Given the description of an element on the screen output the (x, y) to click on. 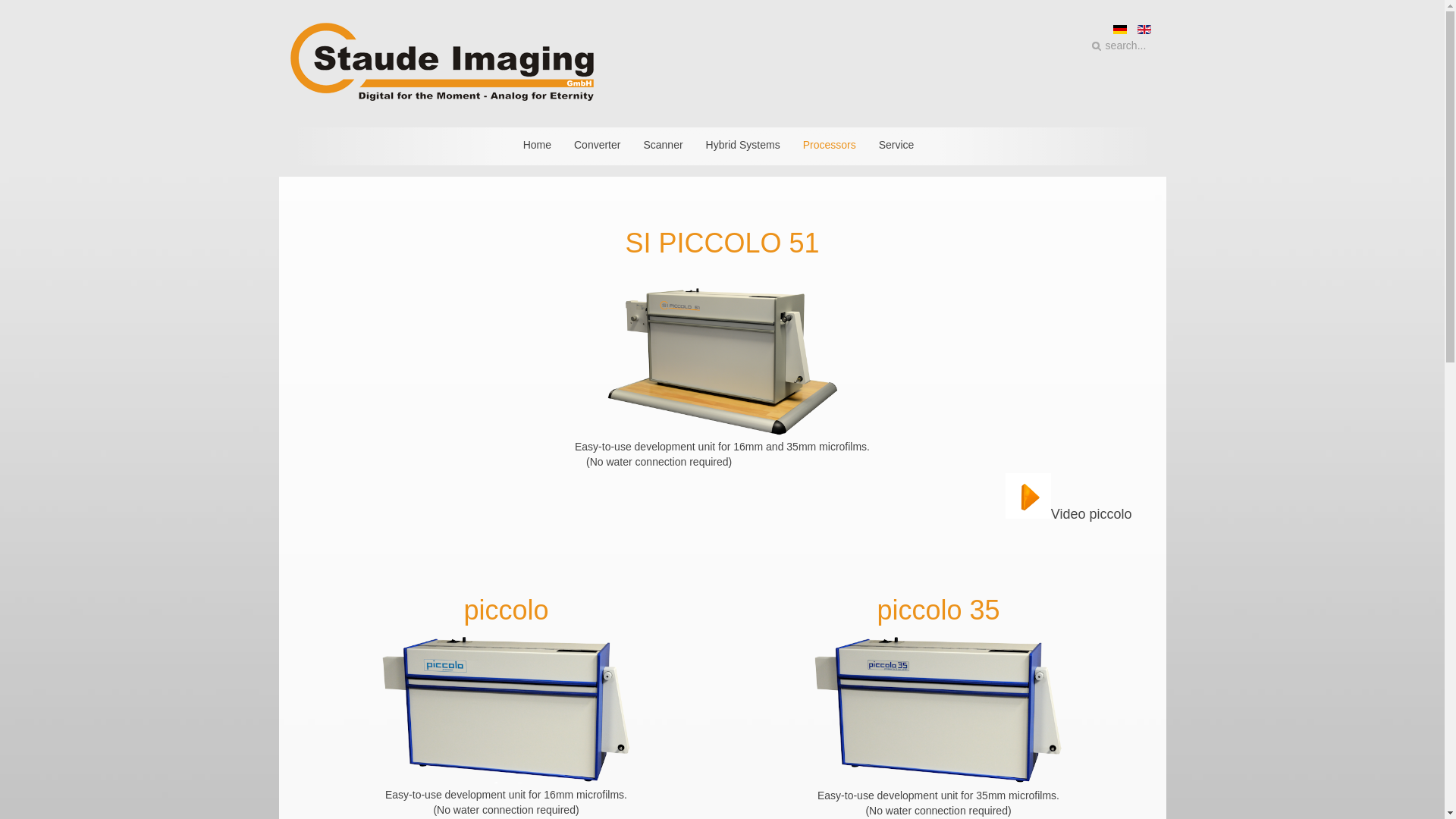
Hybrid Systems (742, 144)
Reset (3, 2)
Video piccolo (1028, 495)
piccolo 35 (937, 609)
Scanner (662, 144)
Video piccolo (1028, 513)
Converter (596, 144)
Home (537, 144)
Service (895, 144)
SI PICCOLO 51 (721, 242)
Deutsch (1119, 29)
Processors (828, 144)
piccolo (505, 609)
